Given the description of an element on the screen output the (x, y) to click on. 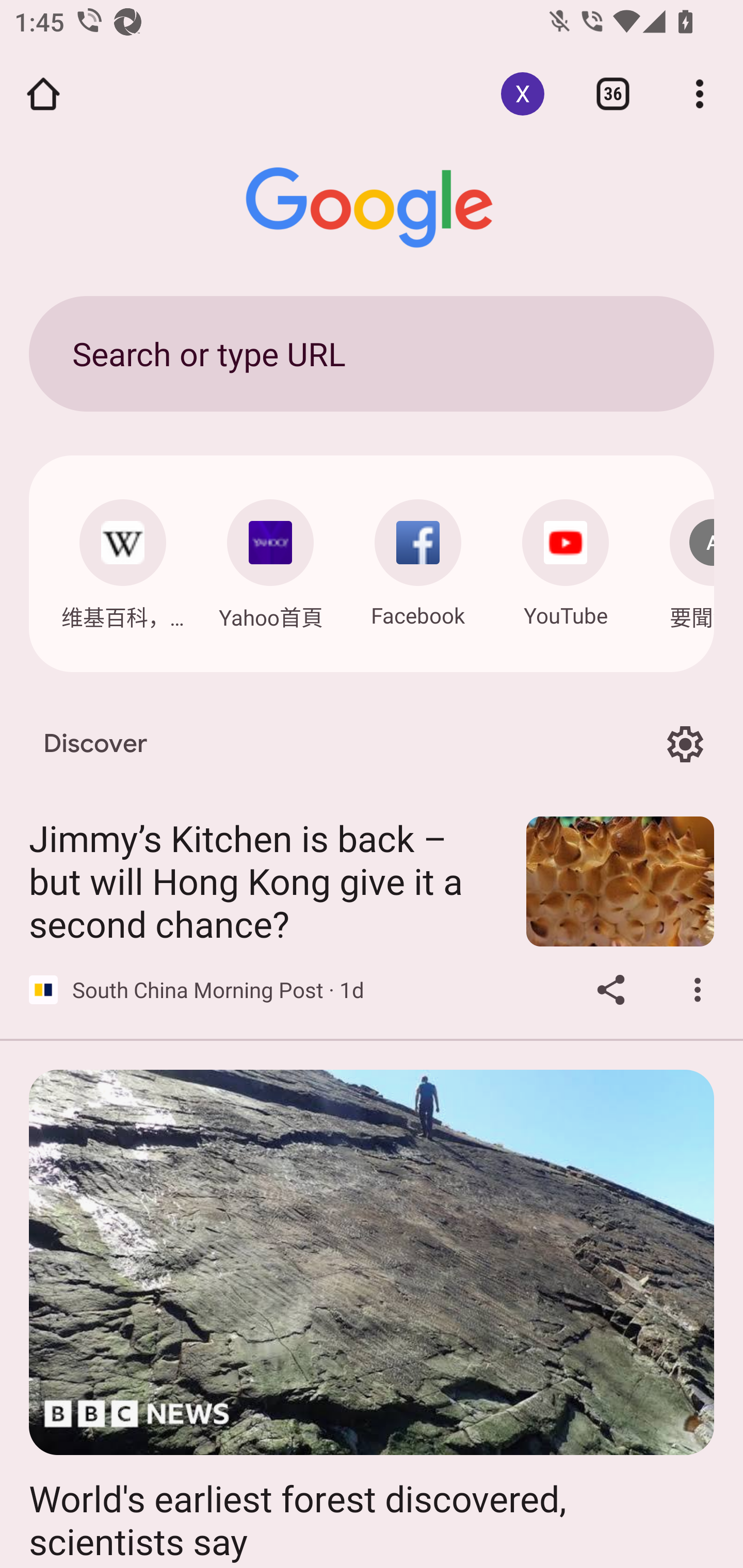
Open the home page (43, 93)
Switch or close tabs (612, 93)
Customize and control Google Chrome (699, 93)
Search or type URL (371, 353)
Navigate: Yahoo首頁: hk.mobi.yahoo.com Yahoo首頁 (270, 558)
Navigate: Facebook: m.facebook.com Facebook (417, 558)
Navigate: YouTube: m.youtube.com YouTube (565, 558)
Options for Discover (684, 743)
